Given the description of an element on the screen output the (x, y) to click on. 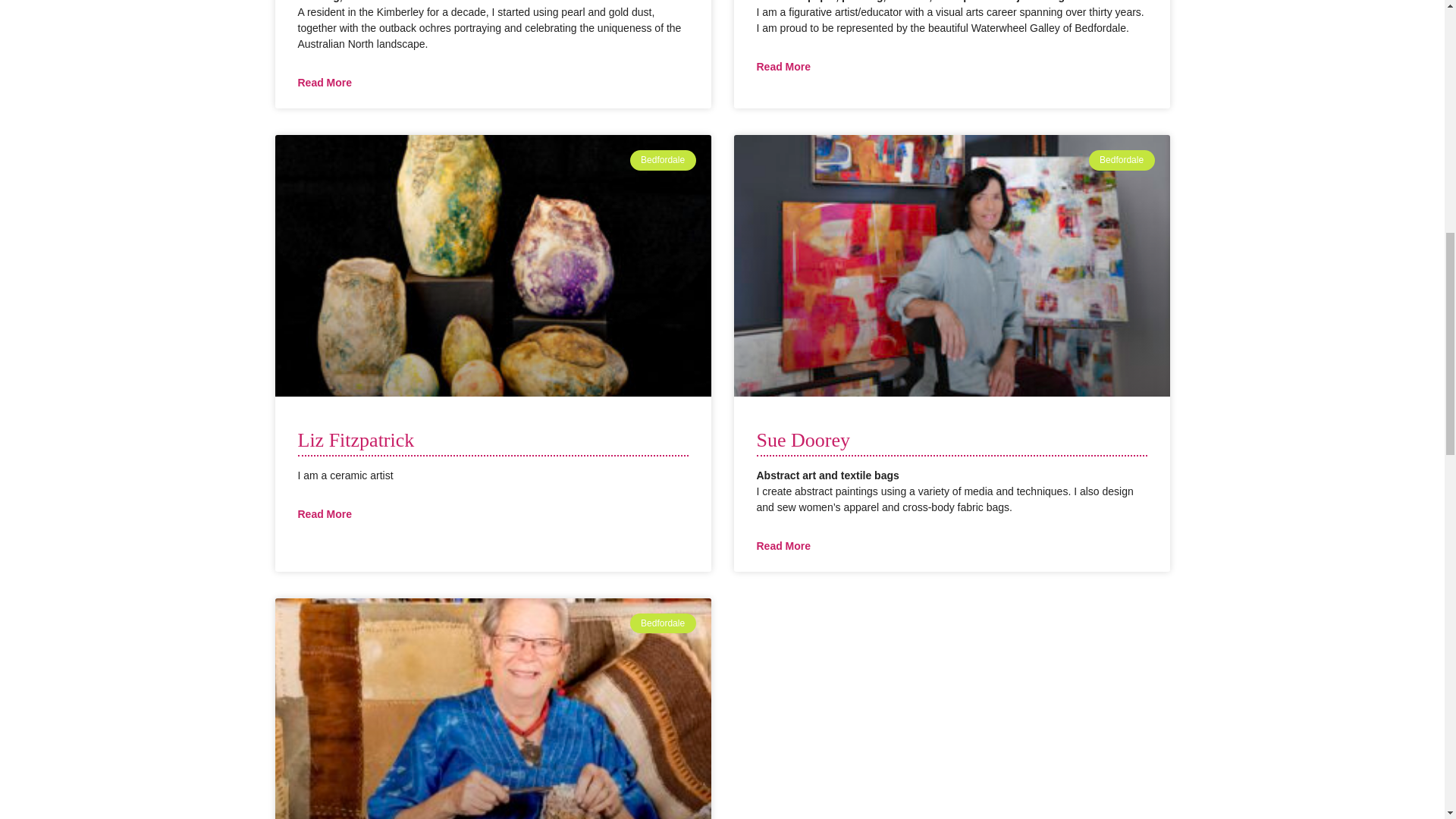
Bedfordale 4 (947, 263)
Liz Fitzpatrick (355, 440)
Bedfordale 5 (488, 685)
Read More (324, 83)
Read More (783, 66)
